Given the description of an element on the screen output the (x, y) to click on. 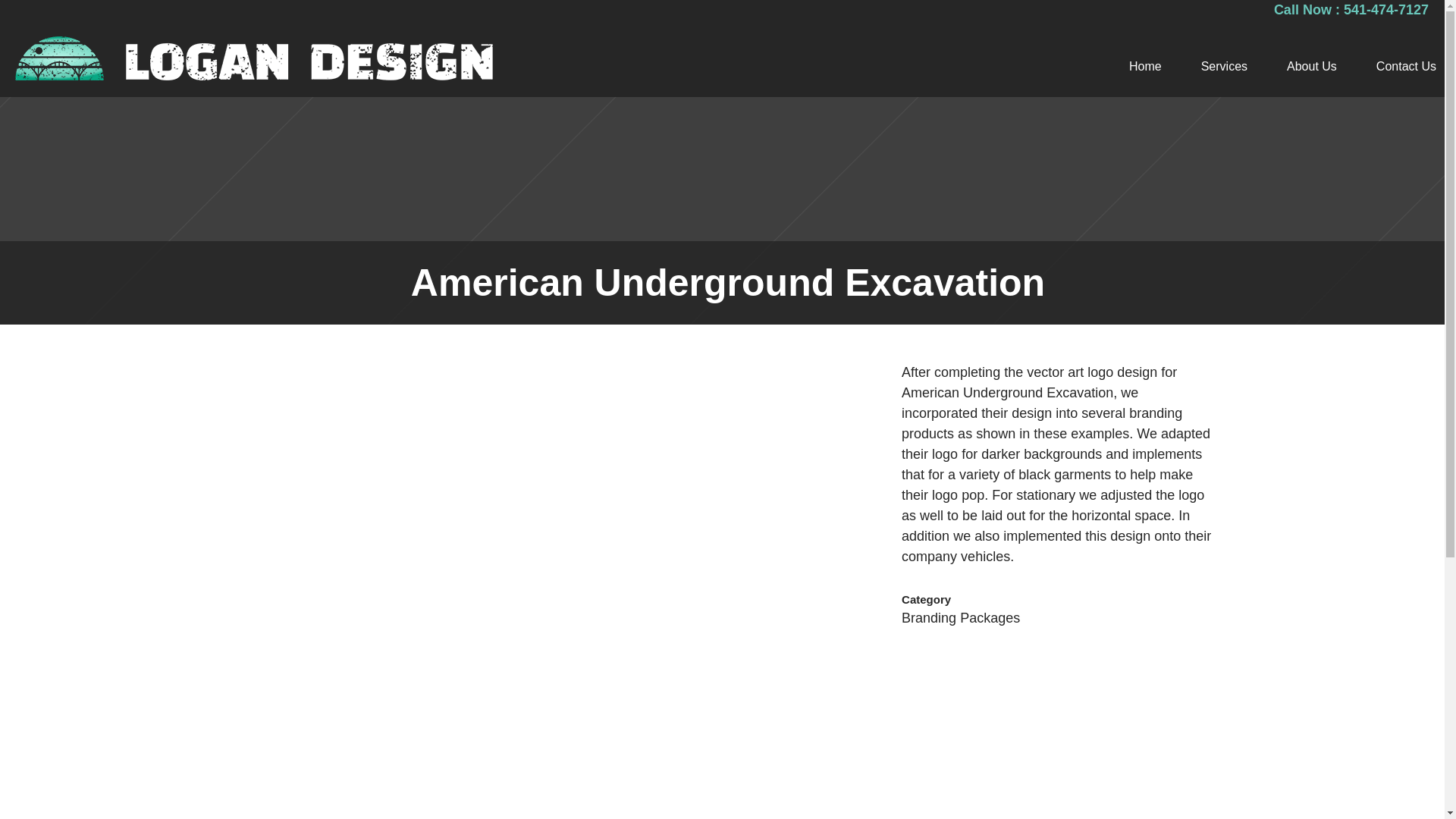
Services (1223, 66)
Home (1144, 66)
541-474-7127 (1385, 9)
About Us (1311, 66)
